Given the description of an element on the screen output the (x, y) to click on. 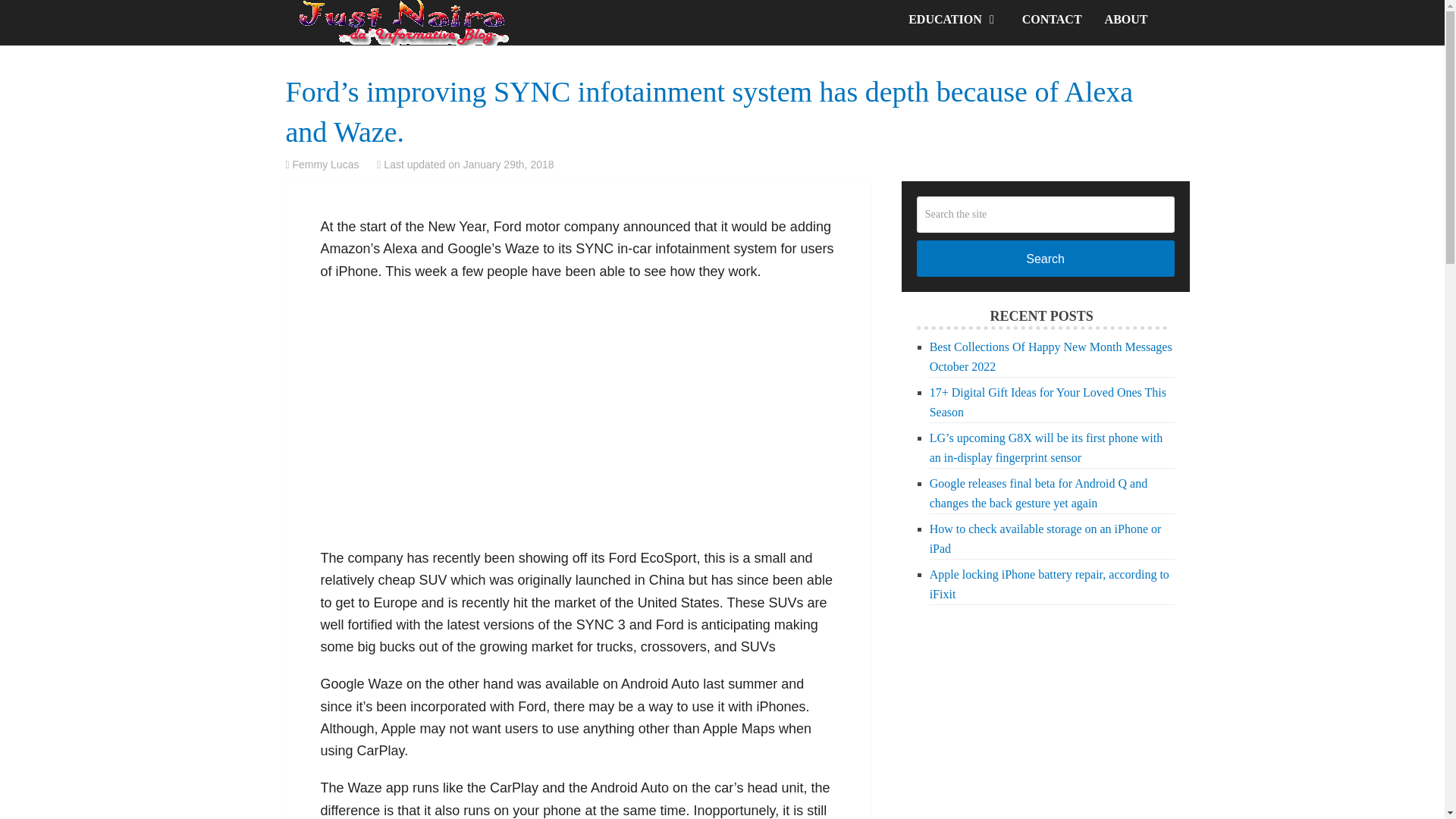
CONTACT (1051, 19)
ABOUT (1125, 19)
EDUCATION (953, 19)
